Given the description of an element on the screen output the (x, y) to click on. 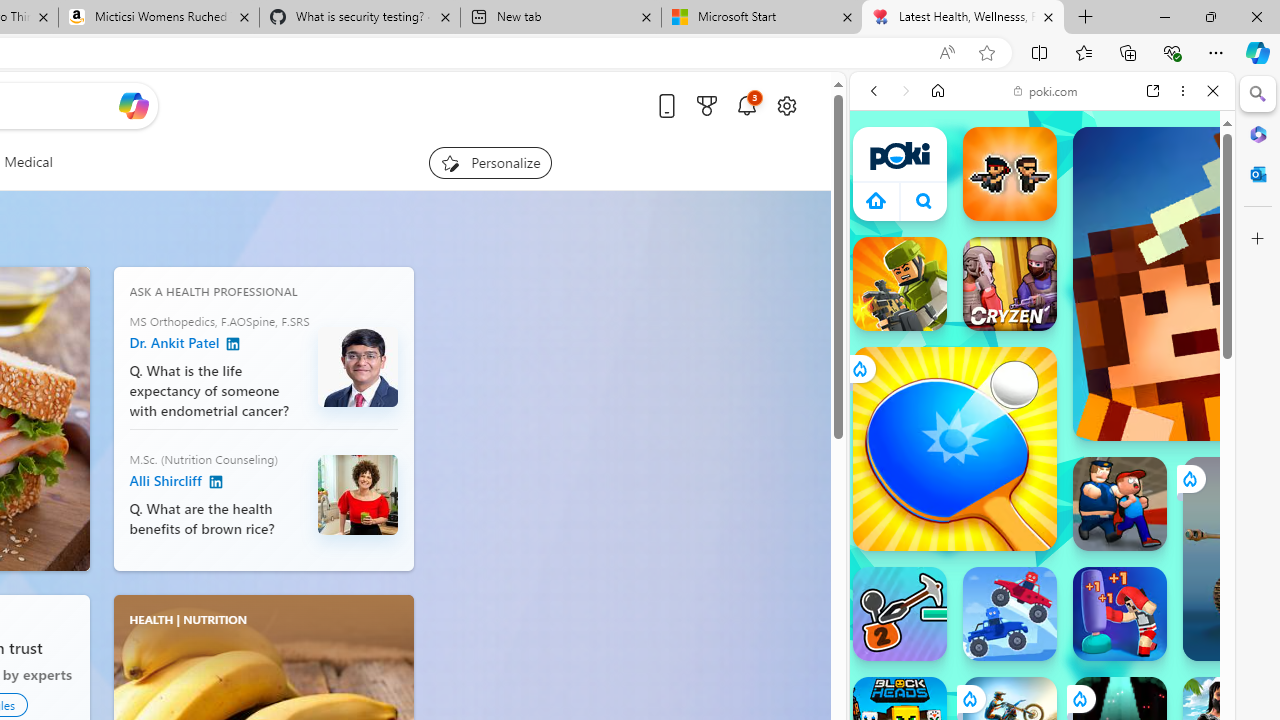
Escape From School Escape From School (1119, 503)
Two Player Games (1042, 567)
Poki (1034, 288)
Stickman Climb 2 (899, 613)
Show More Two Player Games (1164, 570)
Dr. Ankit Patel (357, 366)
